Given the description of an element on the screen output the (x, y) to click on. 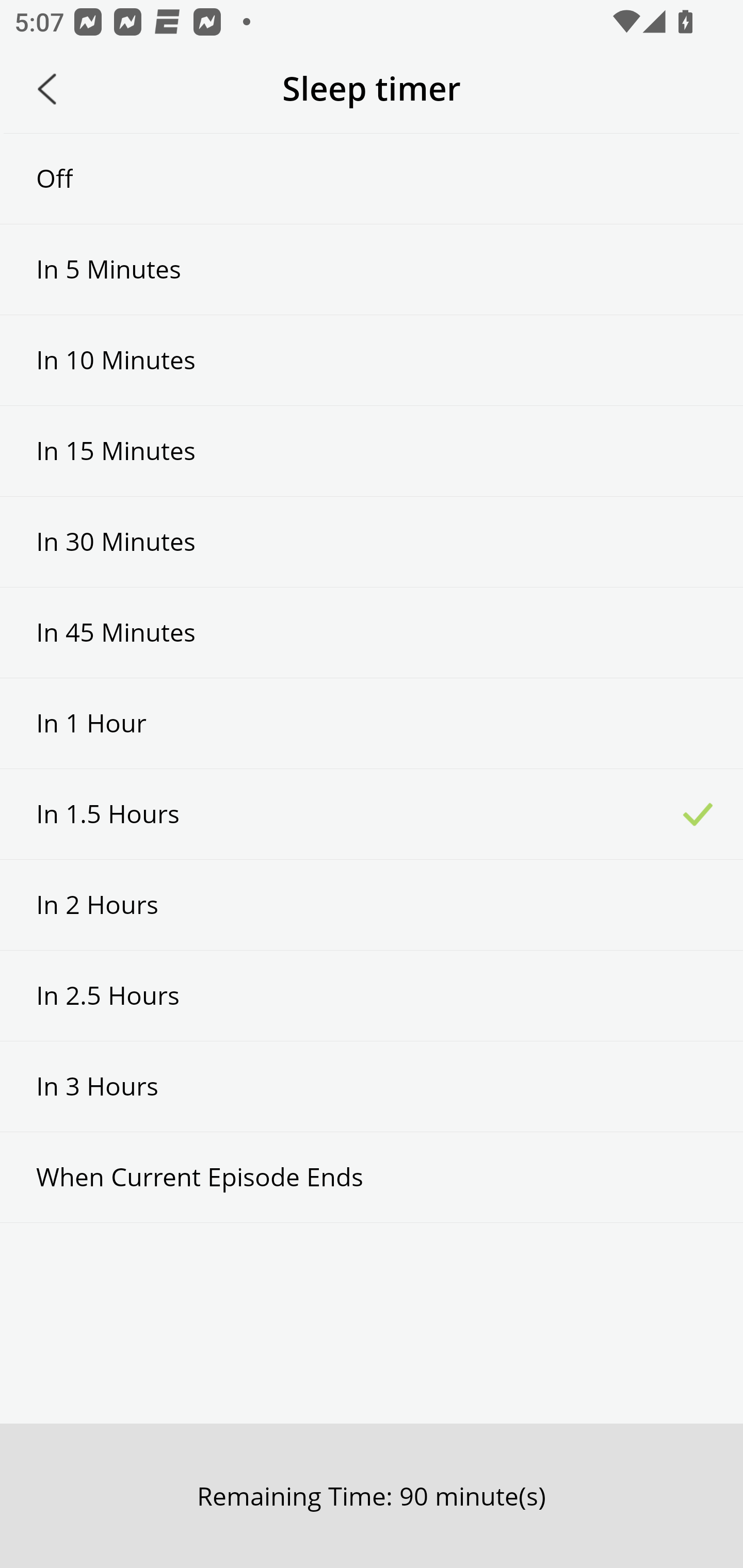
Back (46, 88)
Off (371, 178)
In 5 Minutes (371, 269)
In 10 Minutes (371, 360)
In 15 Minutes (371, 450)
In 30 Minutes (371, 541)
In 45 Minutes (371, 632)
In 1 Hour (371, 723)
In 1.5 Hours (371, 813)
In 2 Hours (371, 904)
In 2.5 Hours (371, 995)
In 3 Hours (371, 1086)
When Current Episode Ends (371, 1177)
